Given the description of an element on the screen output the (x, y) to click on. 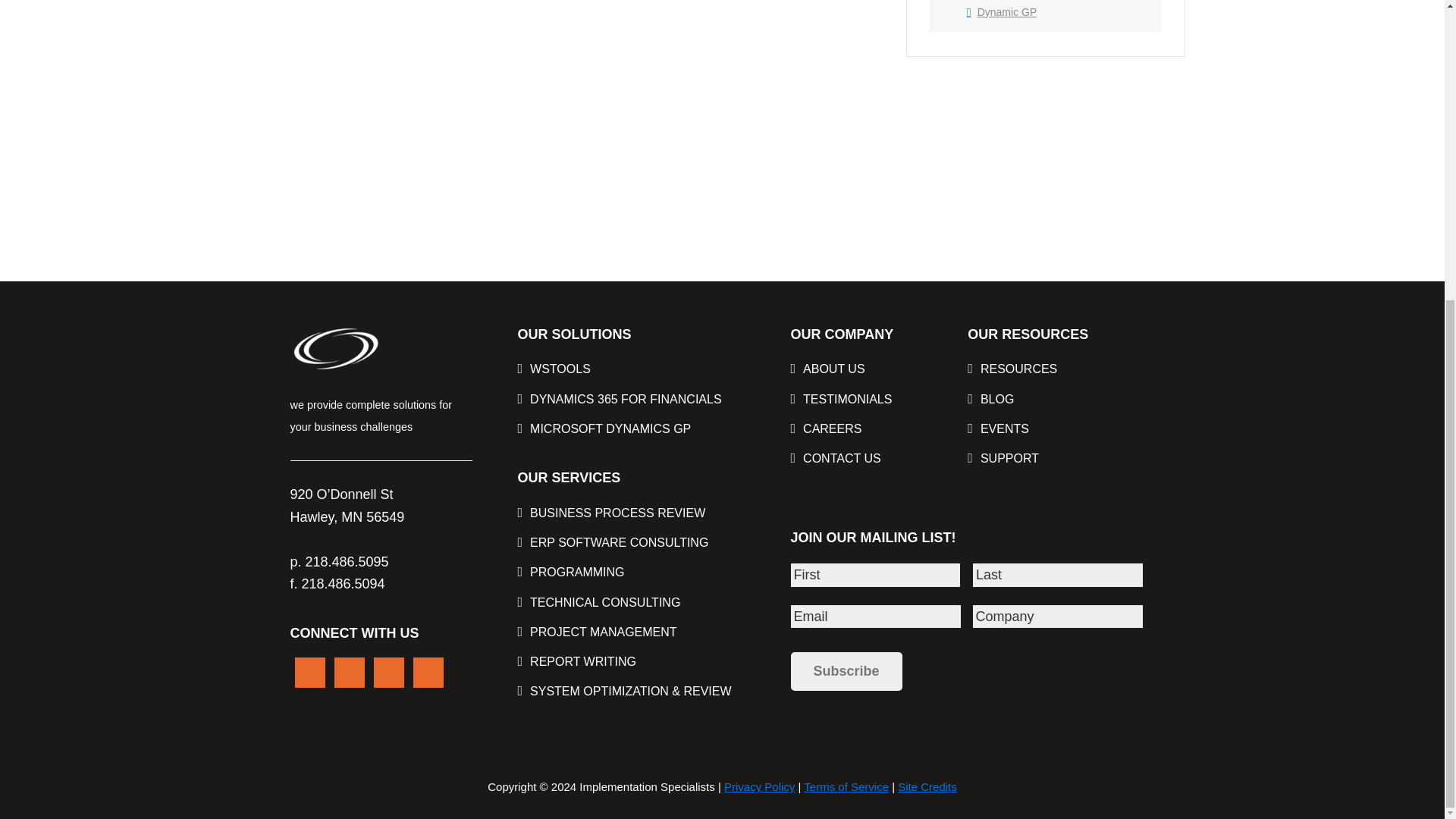
Dynamic GP (1001, 11)
Subscribe (845, 671)
First look at the new Prospect Module (491, 89)
